Given the description of an element on the screen output the (x, y) to click on. 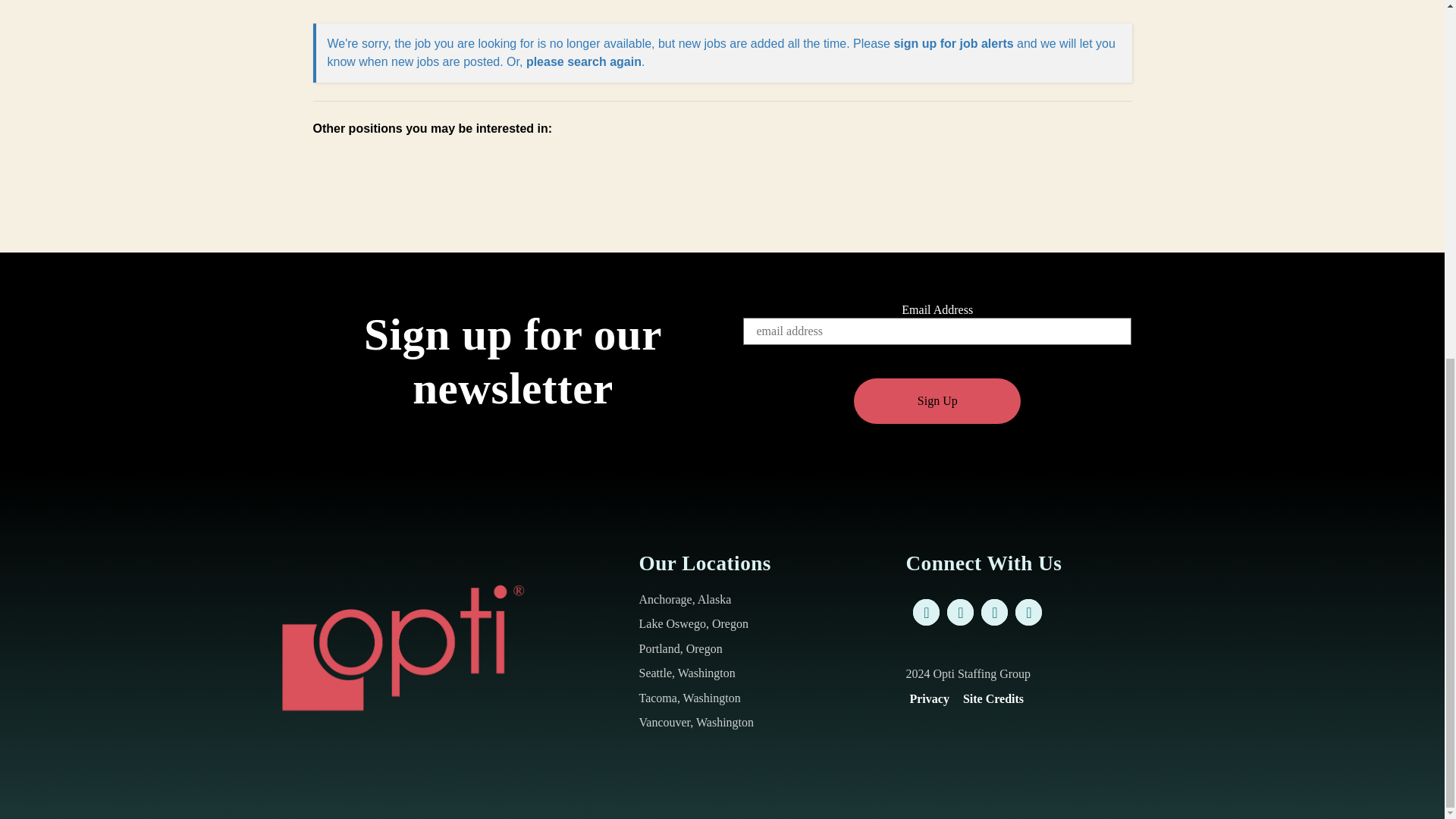
Follow Opti Staffing on Facebook (925, 611)
Follow Opti Staffing on Twitter (960, 611)
Connect with Opti Staffing on LinkedIn (994, 611)
Follow Opti Staffing on Instagram (1028, 611)
 Sign Up  (936, 401)
